Given the description of an element on the screen output the (x, y) to click on. 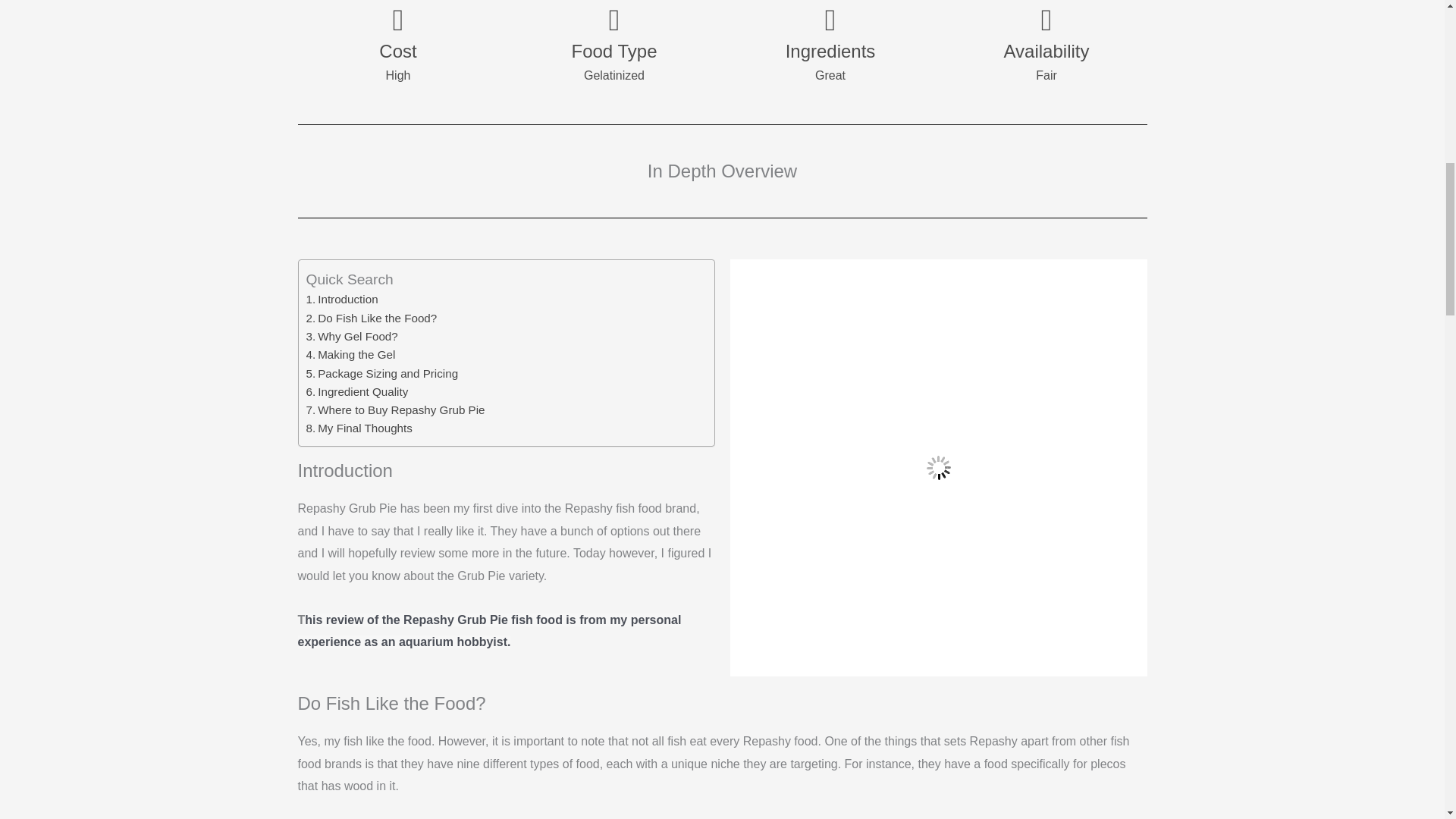
Ingredient Quality (357, 392)
Ingredient Quality (357, 392)
Introduction (341, 299)
My Final Thoughts (358, 428)
Package Sizing and Pricing (381, 373)
Making the Gel (350, 354)
Introduction (341, 299)
Do Fish Like the Food? (371, 318)
Why Gel Food? (351, 336)
My Final Thoughts (358, 428)
Where to Buy Repashy Grub Pie (394, 410)
Package Sizing and Pricing (381, 373)
Do Fish Like the Food? (371, 318)
Where to Buy Repashy Grub Pie (394, 410)
Why Gel Food? (351, 336)
